Given the description of an element on the screen output the (x, y) to click on. 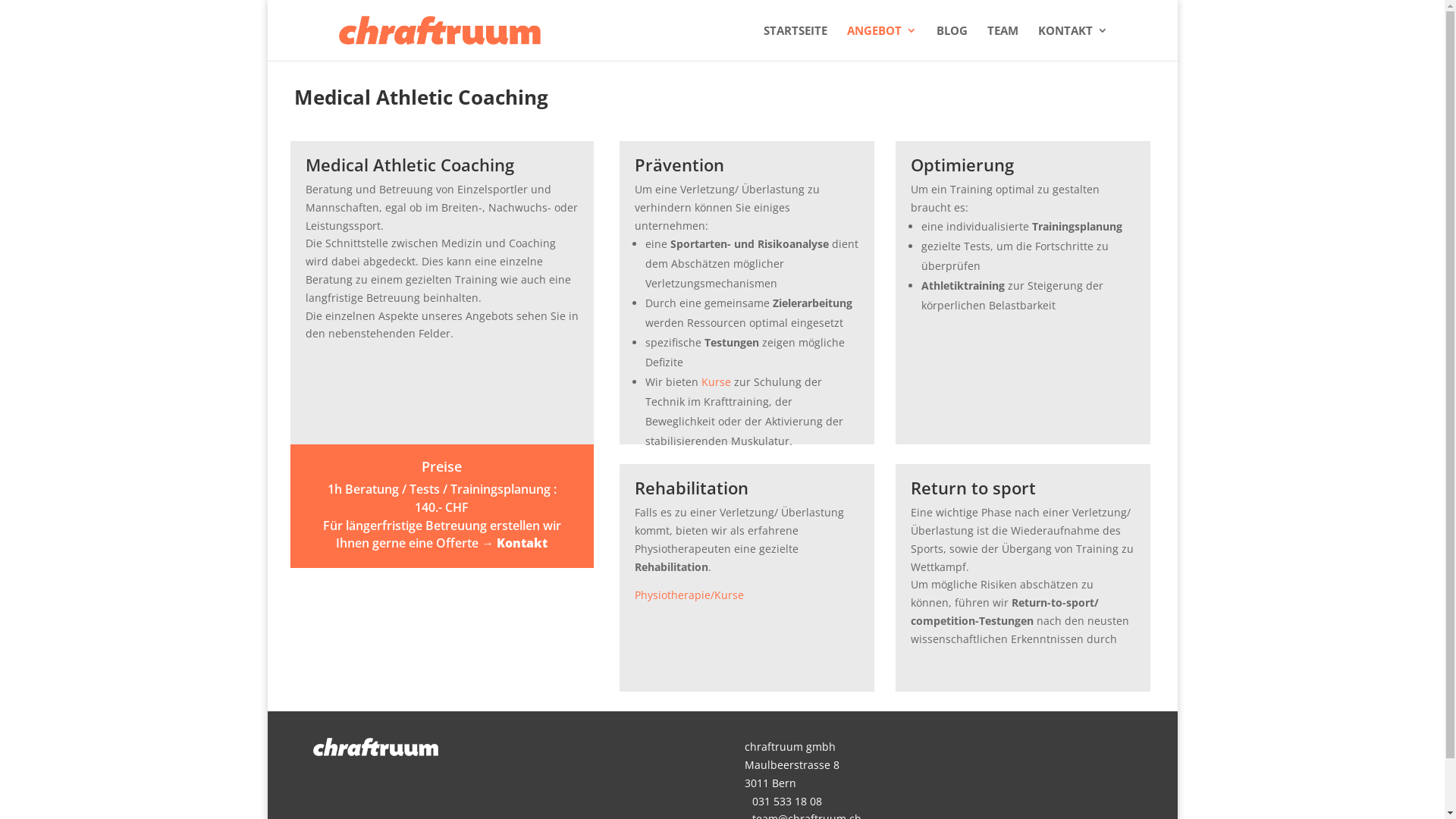
ANGEBOT Element type: text (881, 42)
031 533 18 08 Element type: text (783, 800)
TEAM Element type: text (1002, 42)
STARTSEITE Element type: text (794, 42)
KONTAKT Element type: text (1072, 42)
BLOG Element type: text (950, 42)
Kurse Element type: text (716, 381)
Kontakt Element type: text (521, 542)
Physiotherapie/Kurse Element type: text (688, 594)
